Given the description of an element on the screen output the (x, y) to click on. 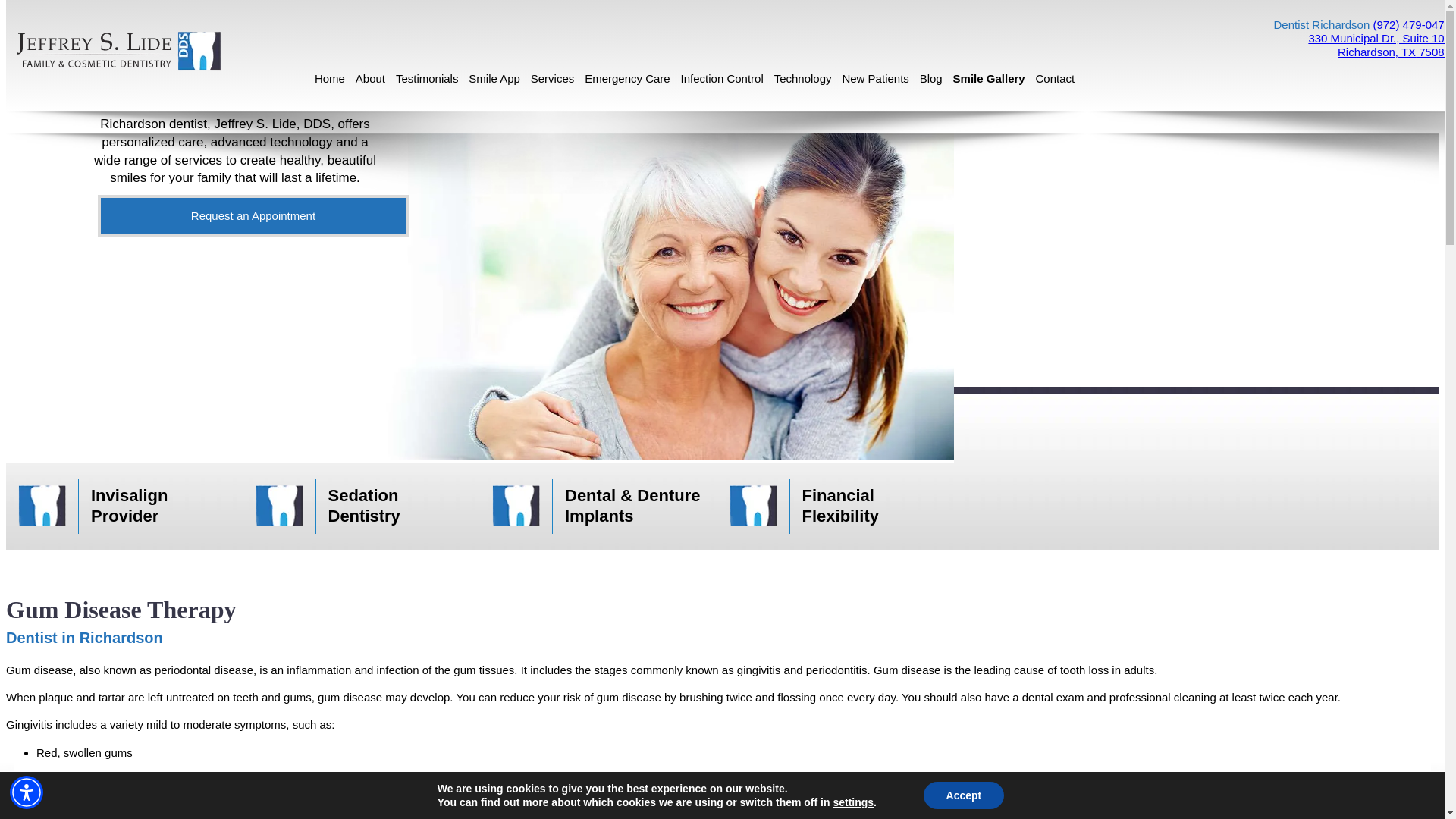
New Patients (876, 79)
Technology (802, 79)
Infection Control (722, 79)
Home (329, 79)
Services (551, 79)
Smile App (493, 79)
About (370, 79)
Accessibility Menu (26, 792)
Emergency Care (626, 79)
Testimonials (427, 79)
